Given the description of an element on the screen output the (x, y) to click on. 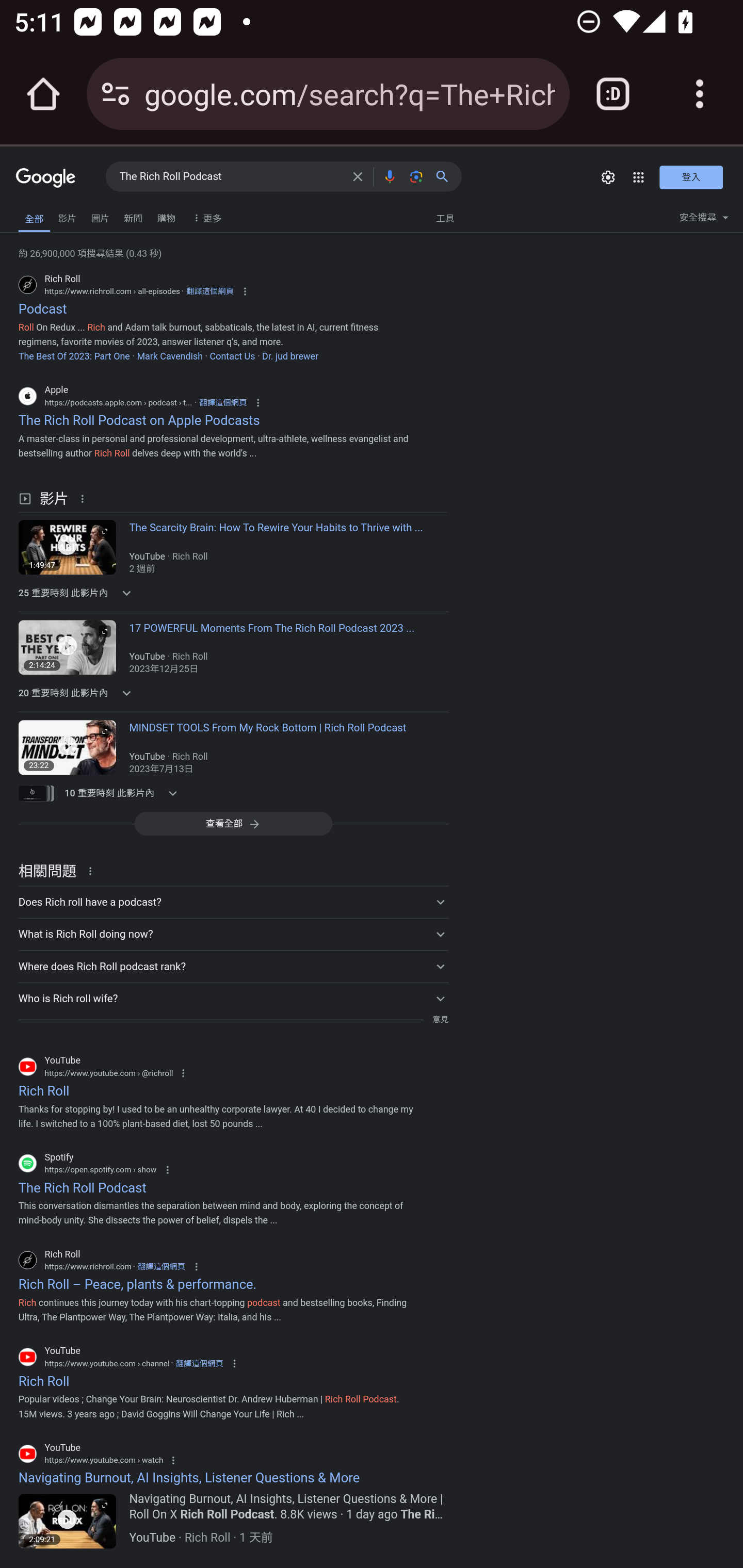
Open the home page (43, 93)
Connection is secure (115, 93)
Switch or close tabs (612, 93)
Customize and control Google Chrome (699, 93)
 清除 (357, 176)
語音搜尋 (389, 176)
以圖搜尋 (415, 176)
搜尋  (446, 176)
設定 (608, 176)
Google 應用程式 (638, 176)
登入 (690, 176)
Google (45, 178)
The Rich Roll Podcast (229, 177)
無障礙功能意見 (42, 212)
影片 (67, 216)
圖片 (99, 216)
新聞 (133, 216)
購物 (166, 216)
更多 (205, 216)
安全搜尋 (703, 219)
工具 (444, 216)
翻譯這個網頁 (209, 291)
The Best Of 2023: Part One (73, 356)
Mark Cavendish (168, 356)
Contact Us (231, 356)
Dr. jud brewer (289, 356)
翻譯這個網頁 (223, 402)
關於此結果 (85, 497)
25 重要時刻  此影片內 (123, 592)
20 重要時刻  此影片內 (123, 692)
10 重要時刻  此影片內 (123, 793)
查看全部 (233, 822)
關於此結果 (93, 870)
Does Rich roll have a podcast? (232, 901)
What is Rich Roll doing now? (232, 933)
Where does Rich Roll podcast rank? (232, 965)
Who is Rich roll wife? (232, 997)
意見 (439, 1019)
翻譯這個網頁 (160, 1266)
翻譯這個網頁 (199, 1363)
